Given the description of an element on the screen output the (x, y) to click on. 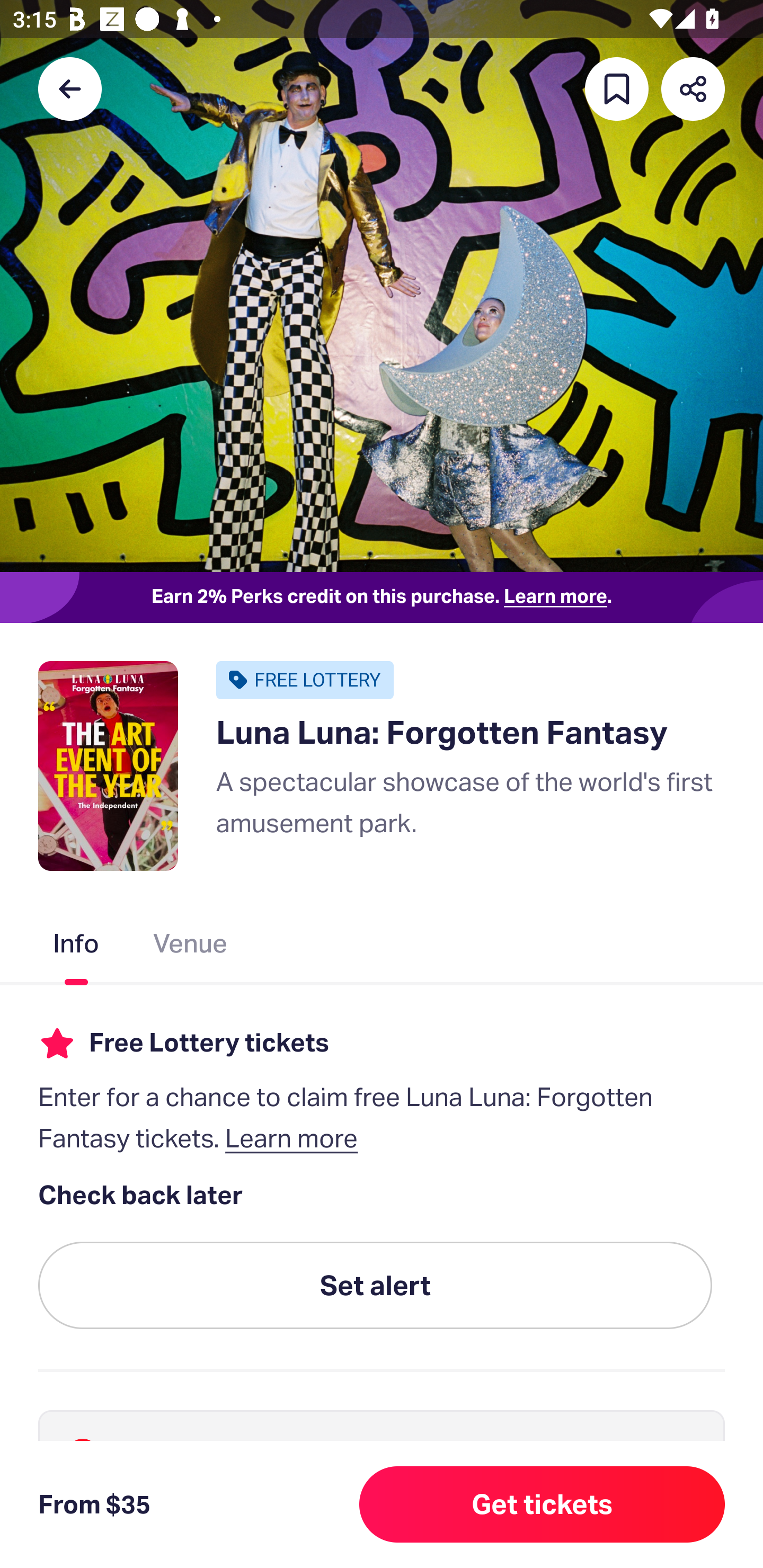
Earn 2% Perks credit on this purchase. Learn more. (381, 597)
Venue (190, 946)
Set alert (374, 1286)
Get tickets (541, 1504)
